Given the description of an element on the screen output the (x, y) to click on. 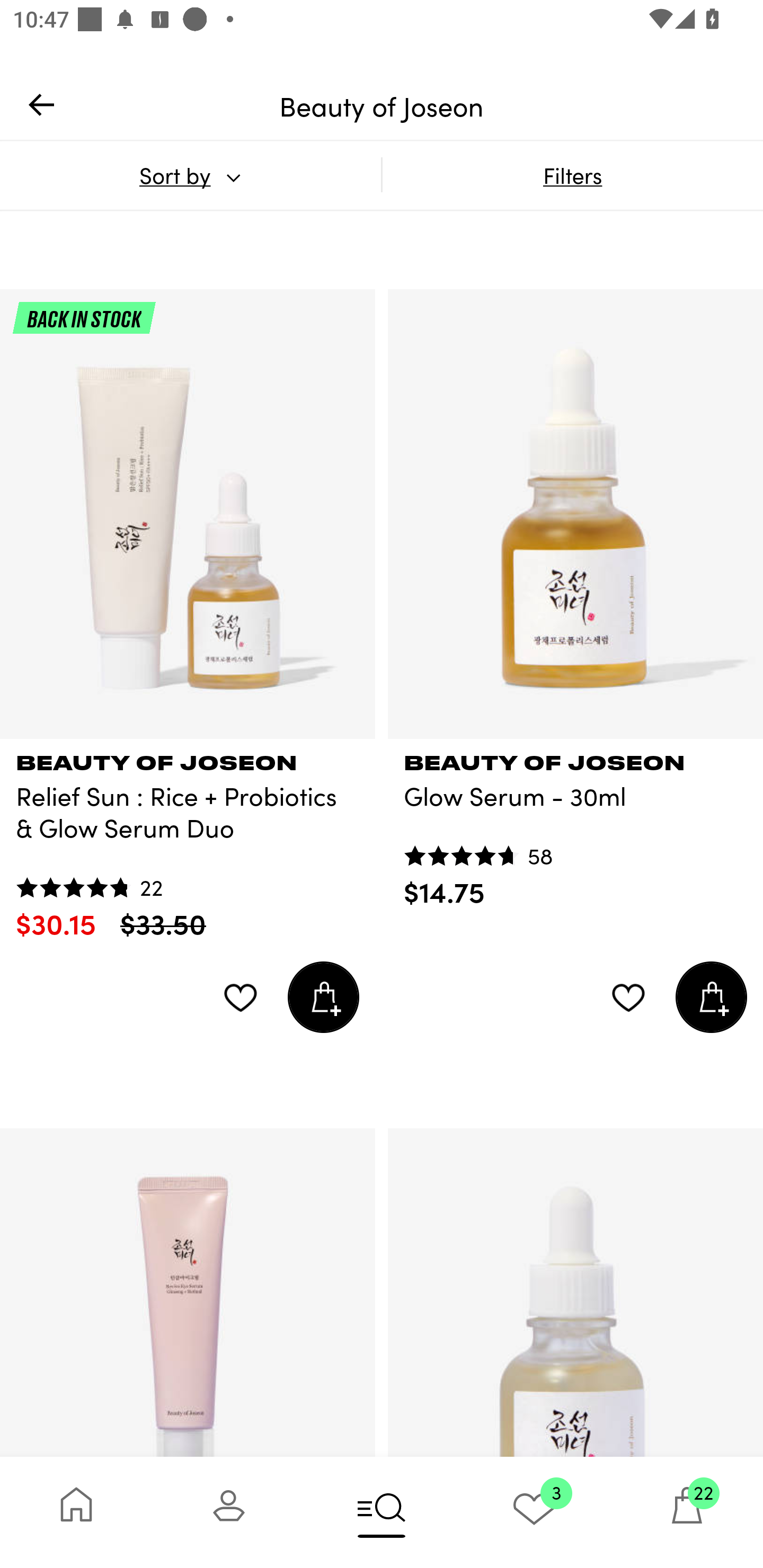
Sort by (190, 174)
Filters (572, 174)
BEAUTY OF JOSEON Glow Serum - 30ml 58 $14.75 (575, 824)
3 (533, 1512)
22 (686, 1512)
